Given the description of an element on the screen output the (x, y) to click on. 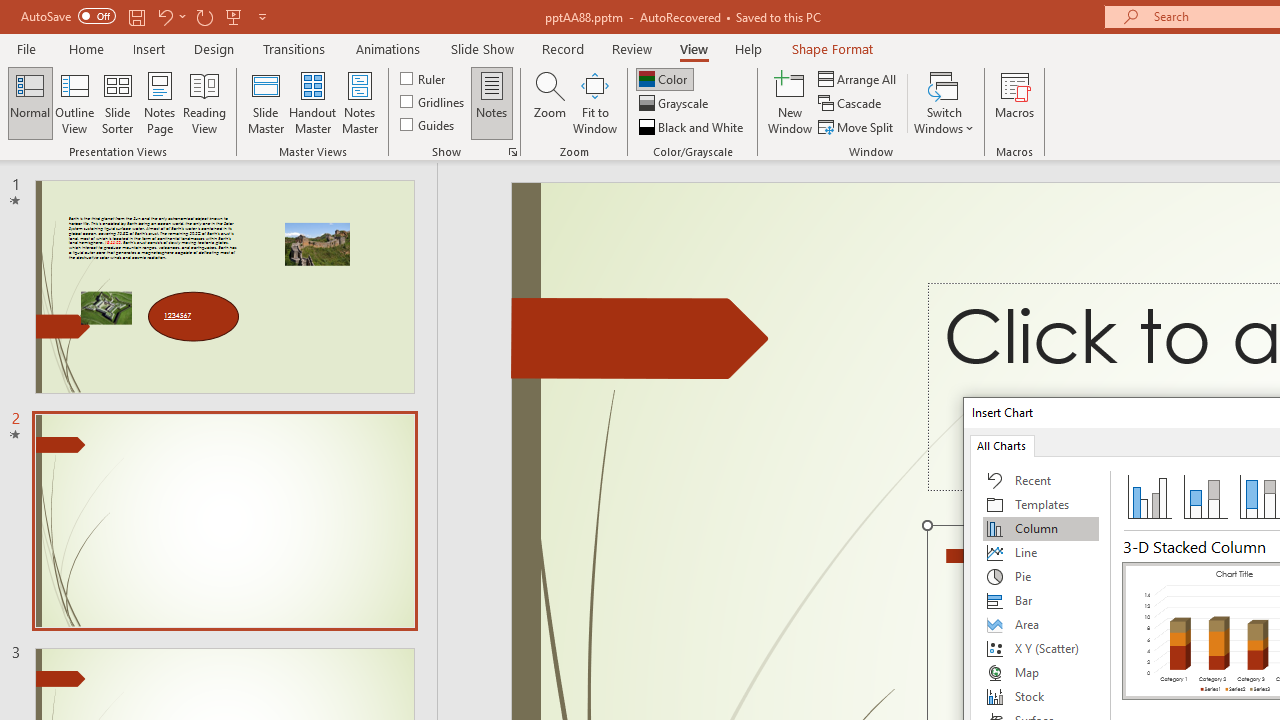
Handout Master (312, 102)
Templates (1041, 504)
Recent (1041, 480)
Outline View (74, 102)
Arrange All (858, 78)
Fit to Window (594, 102)
Slide Master (265, 102)
